Given the description of an element on the screen output the (x, y) to click on. 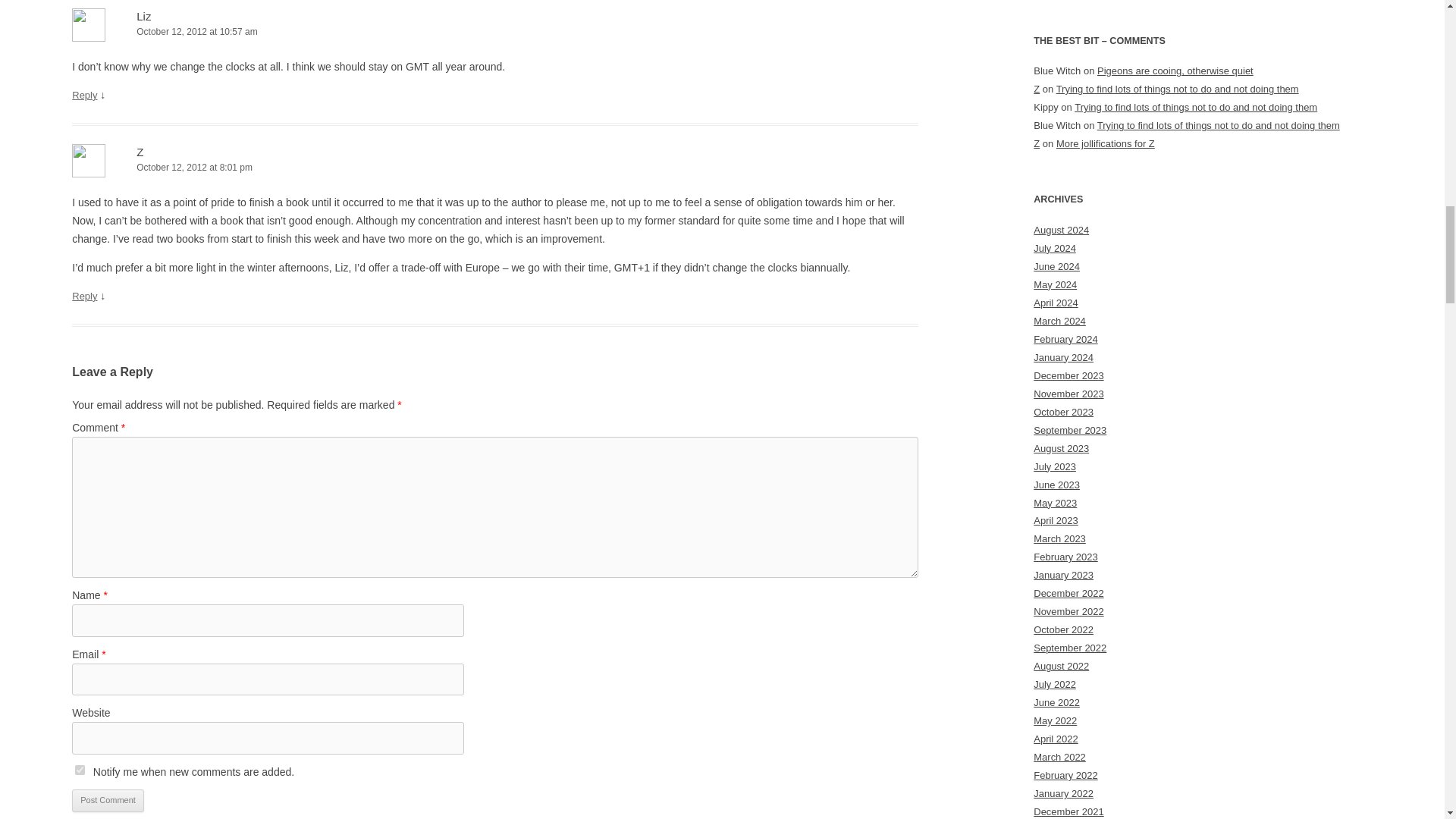
1 (79, 769)
October 12, 2012 at 10:57 am (494, 32)
Post Comment (107, 800)
Reply (84, 94)
October 12, 2012 at 8:01 pm (494, 167)
Reply (84, 296)
Liz (143, 15)
Post Comment (107, 800)
